Given the description of an element on the screen output the (x, y) to click on. 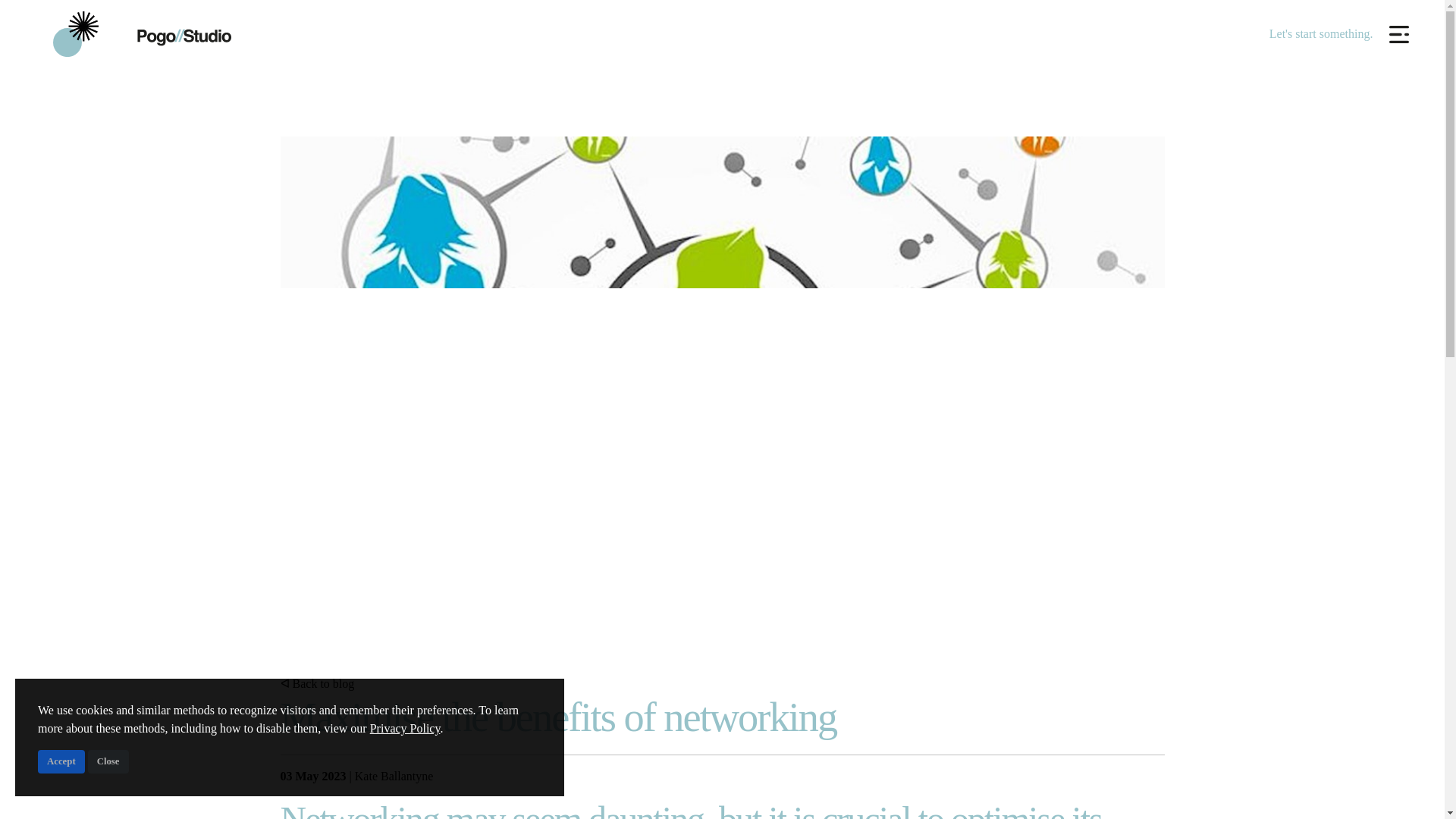
Let's start something. (1320, 33)
Privacy Policy (405, 727)
Accept (60, 761)
Close (108, 761)
Cookie Policy (289, 737)
